Given the description of an element on the screen output the (x, y) to click on. 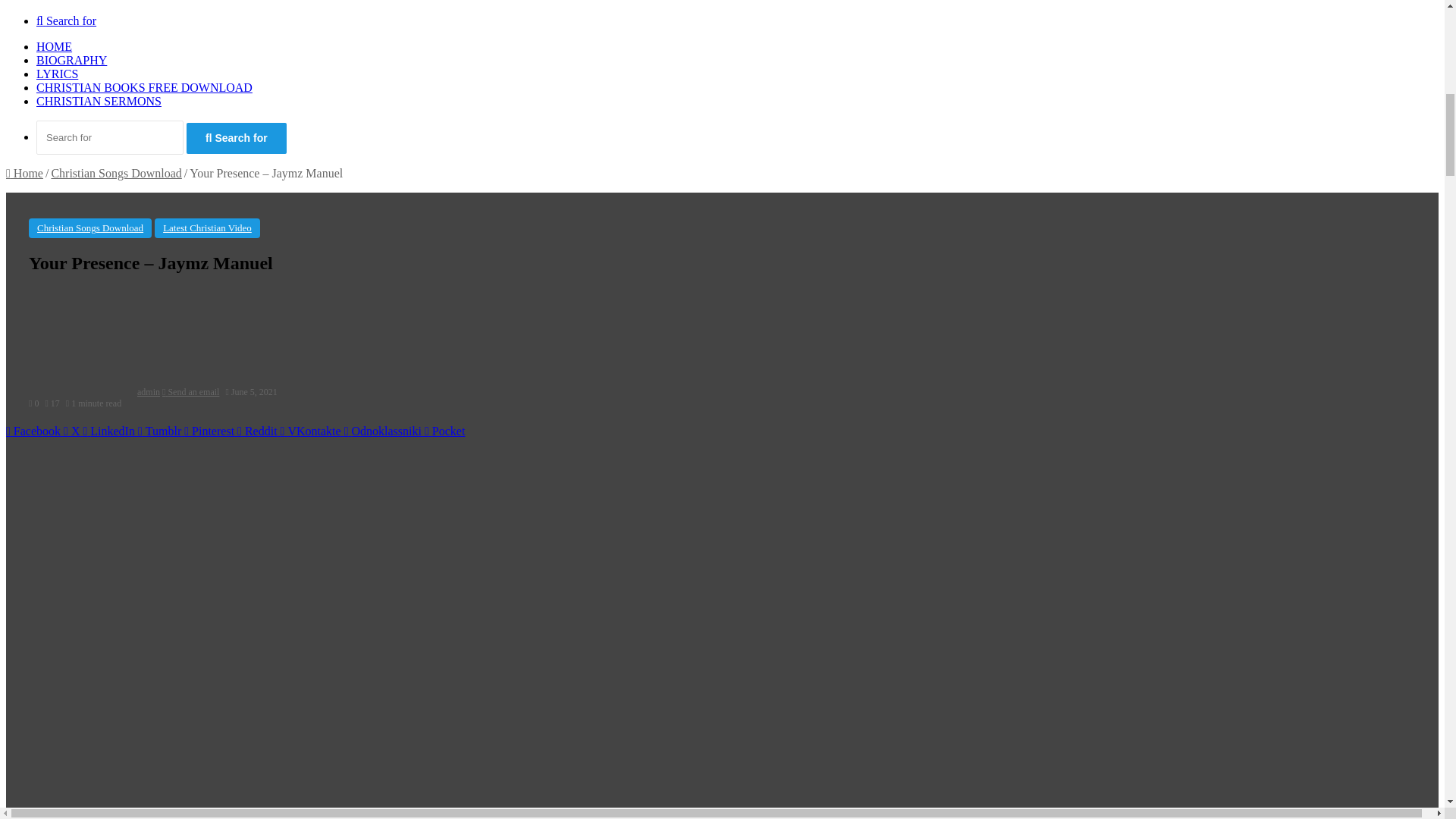
VKontakte (312, 431)
LYRICS (57, 73)
CHRISTIAN BOOKS FREE DOWNLOAD (143, 87)
Pinterest (210, 431)
Pocket (444, 431)
Tumblr (161, 431)
Odnoklassniki (384, 431)
Reddit (259, 431)
Pinterest (210, 431)
LinkedIn (110, 431)
